Given the description of an element on the screen output the (x, y) to click on. 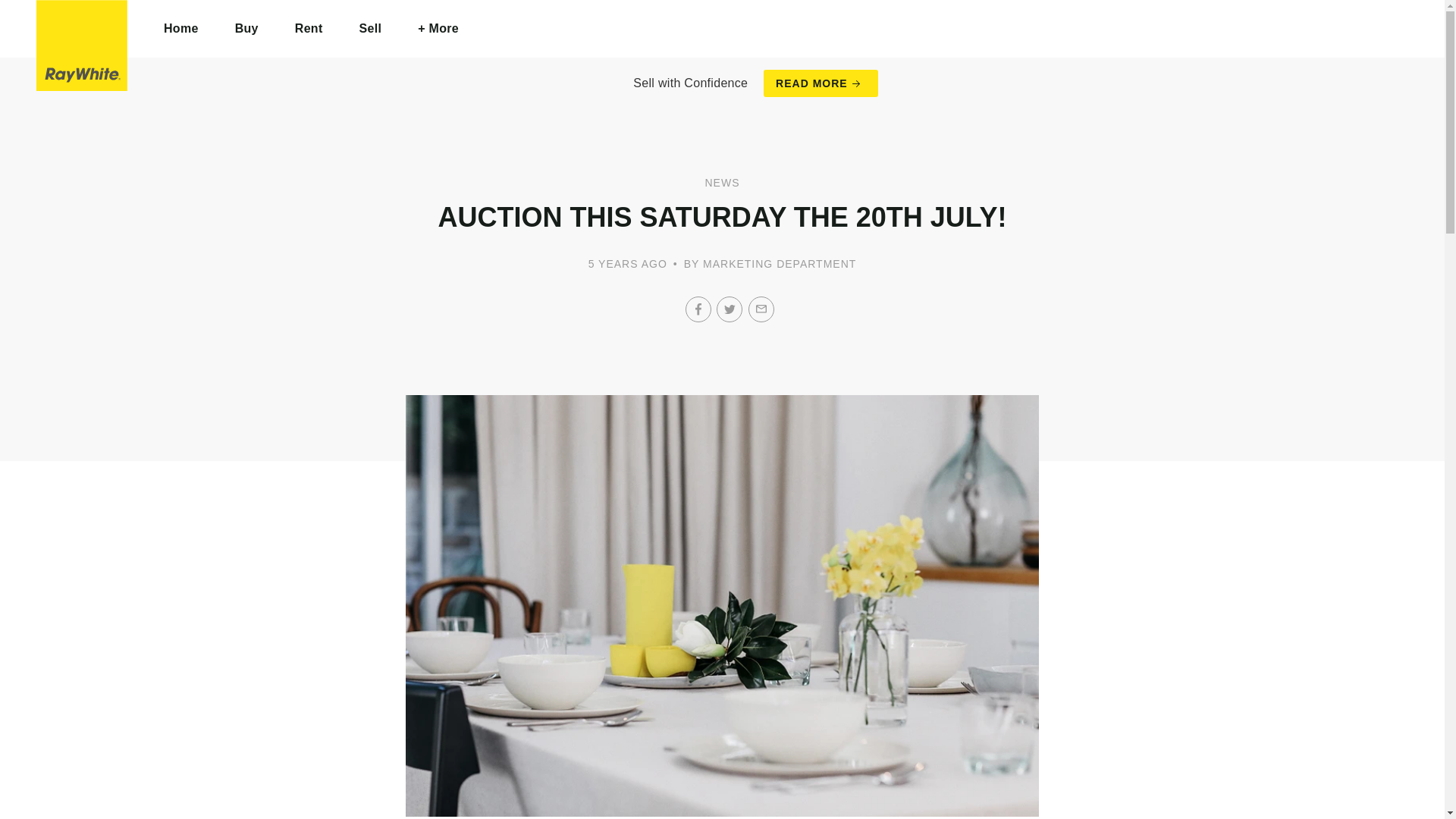
Twitter (729, 309)
Facebook (698, 309)
Email (761, 309)
Home (180, 28)
READ MORE (819, 83)
Ray White Blackburn (82, 45)
